Given the description of an element on the screen output the (x, y) to click on. 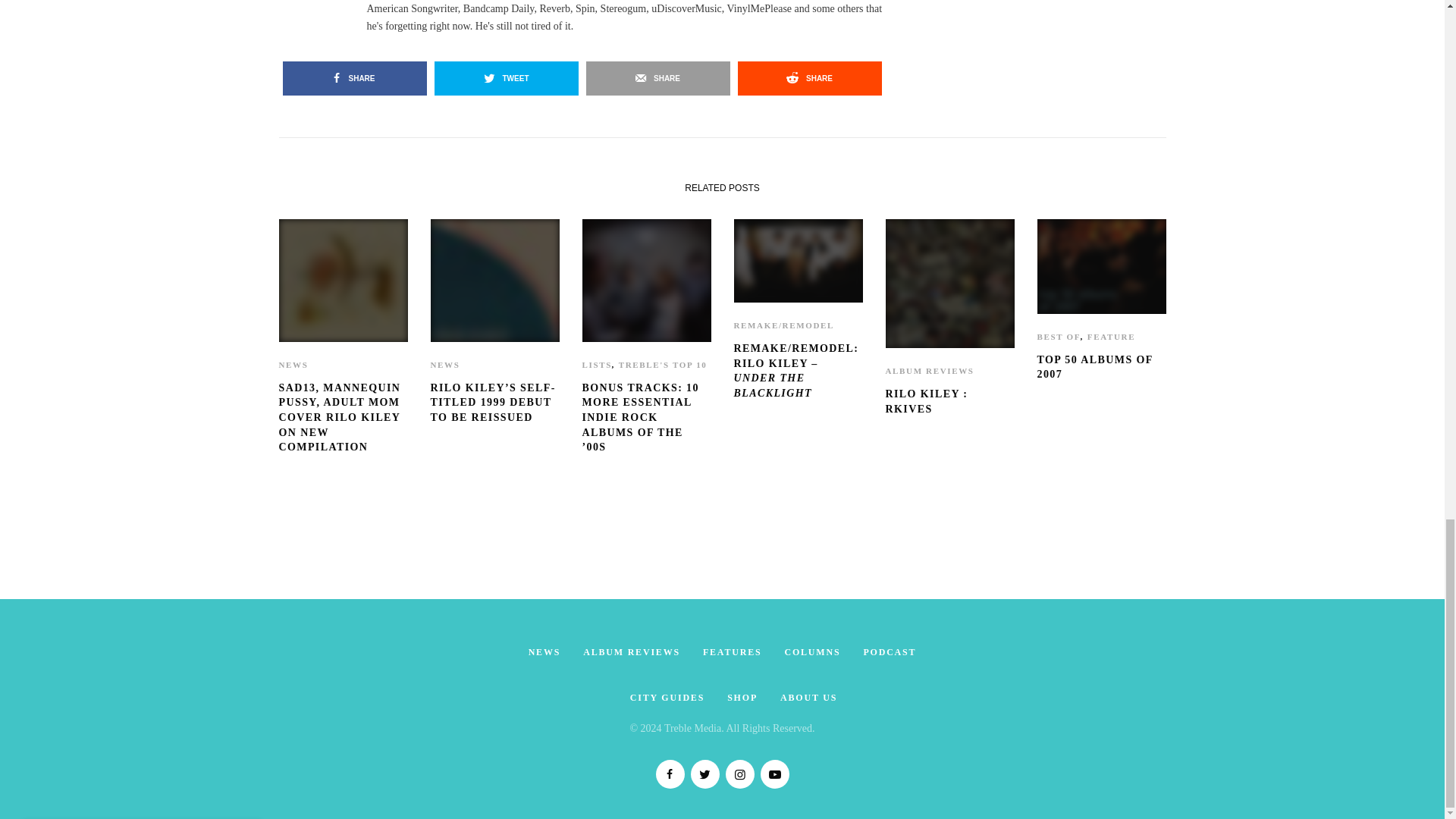
Rilo Kiley : RKives (949, 401)
